Given the description of an element on the screen output the (x, y) to click on. 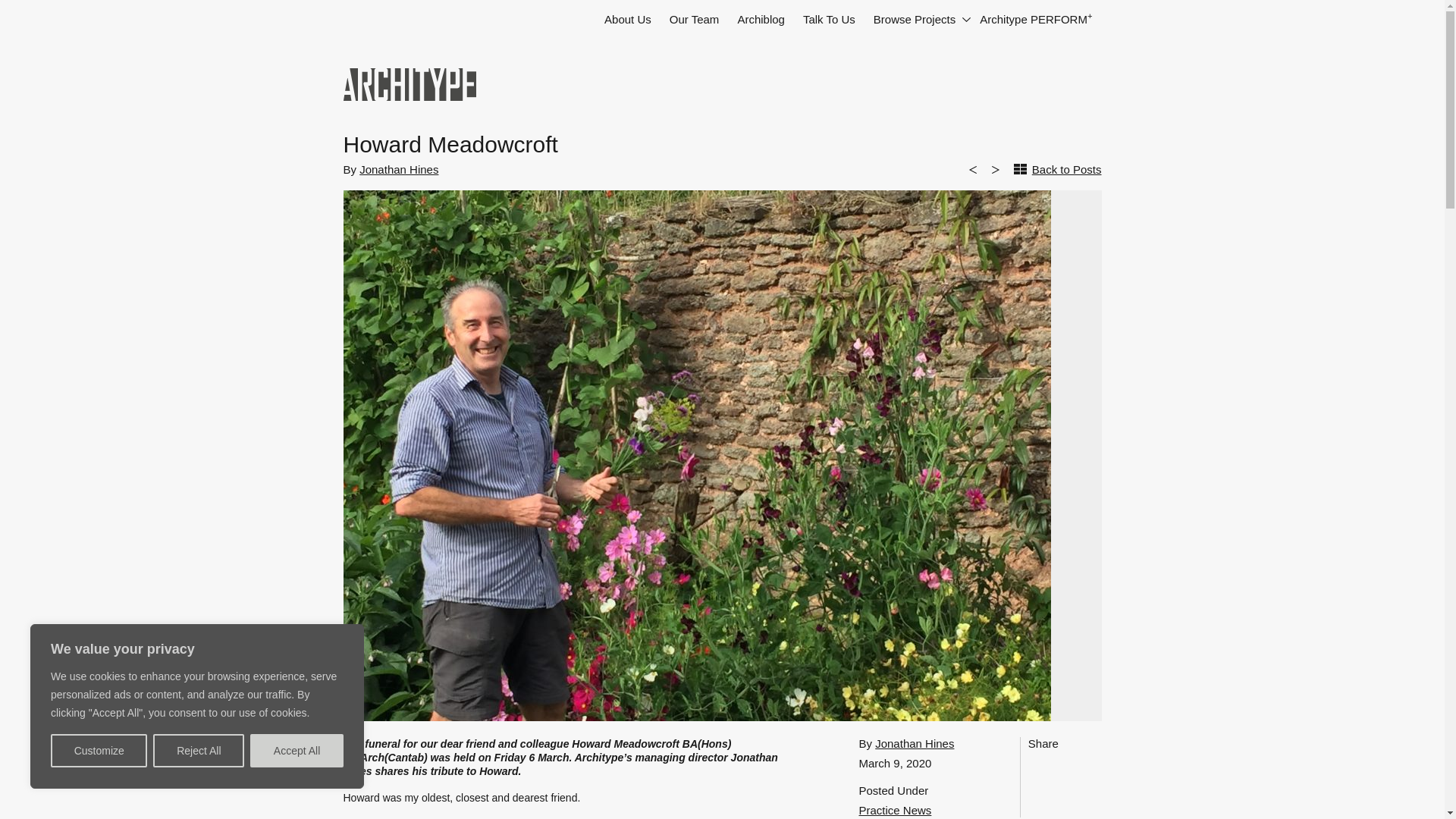
About Us (628, 19)
Accept All (296, 750)
Archiblog (760, 19)
Reject All (198, 750)
Customize (98, 750)
Posts by Jonathan Hines (914, 743)
Our Team (695, 19)
What We're Doing (760, 19)
Posts by Jonathan Hines (398, 169)
Browse Buildings (917, 19)
